Given the description of an element on the screen output the (x, y) to click on. 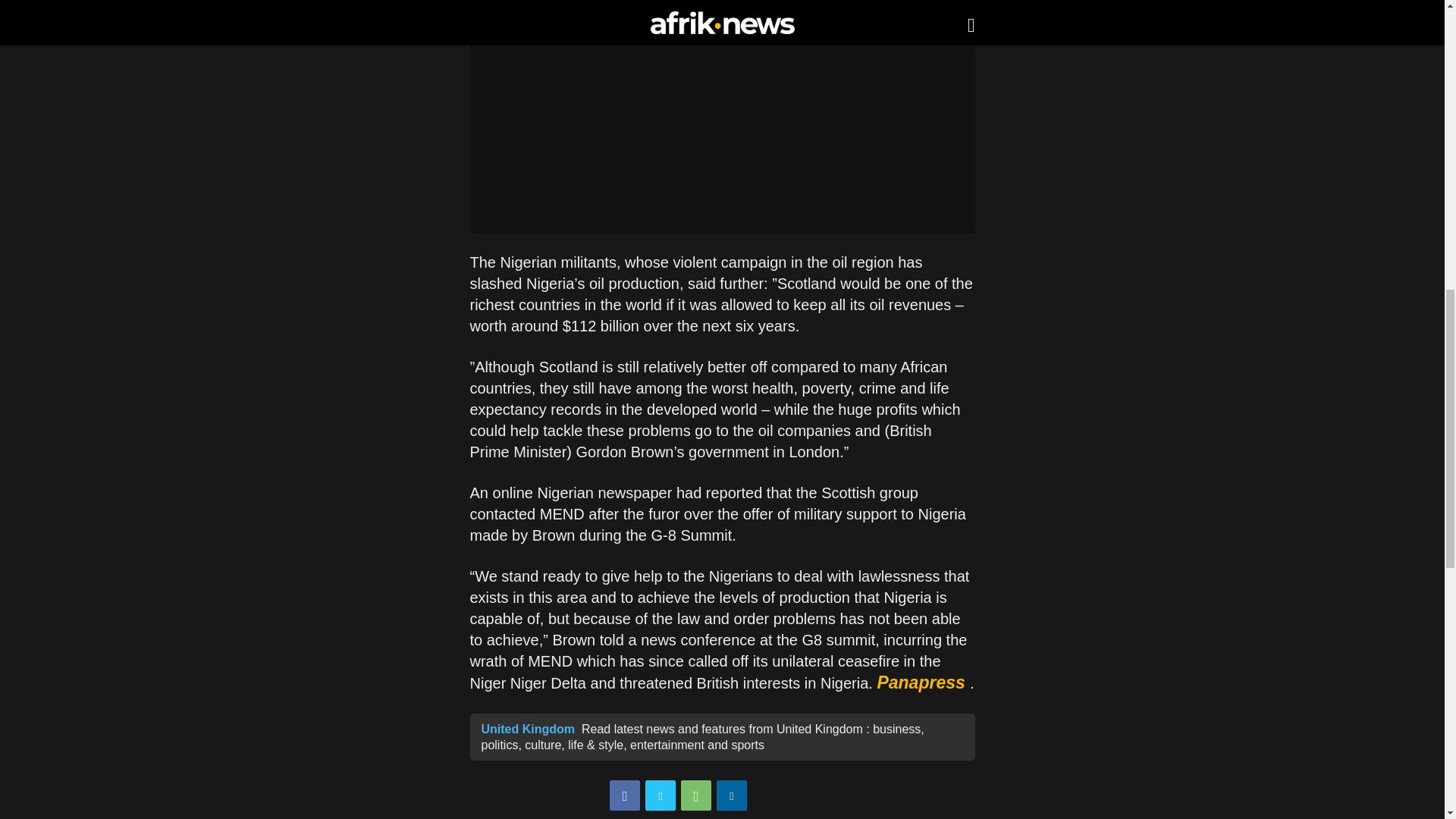
WhatsApp (696, 795)
Facebook (625, 795)
Twitter (660, 795)
Facebook Like (794, 796)
Linkedin (731, 795)
